Given the description of an element on the screen output the (x, y) to click on. 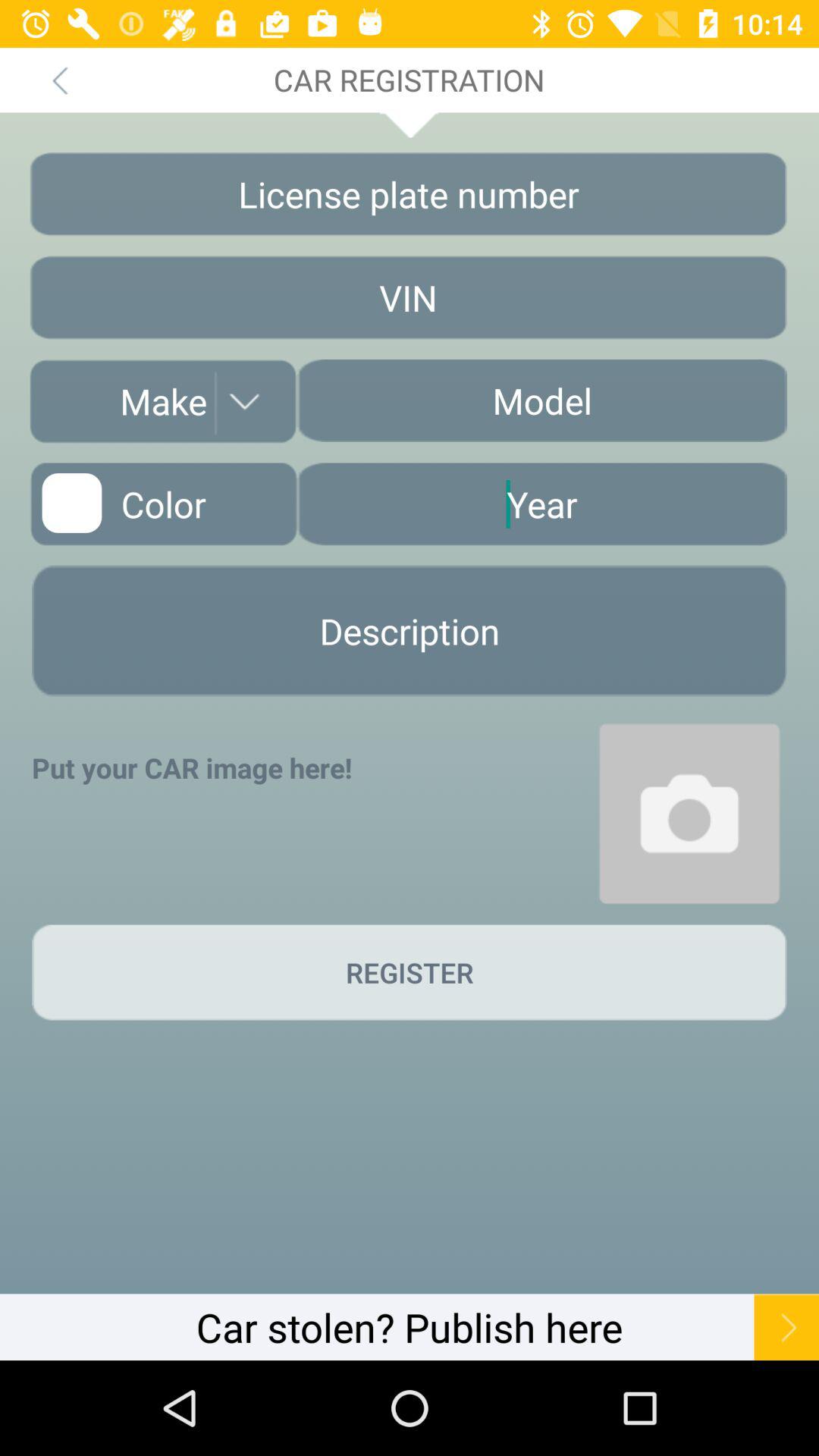
model of vehicle (541, 400)
